Given the description of an element on the screen output the (x, y) to click on. 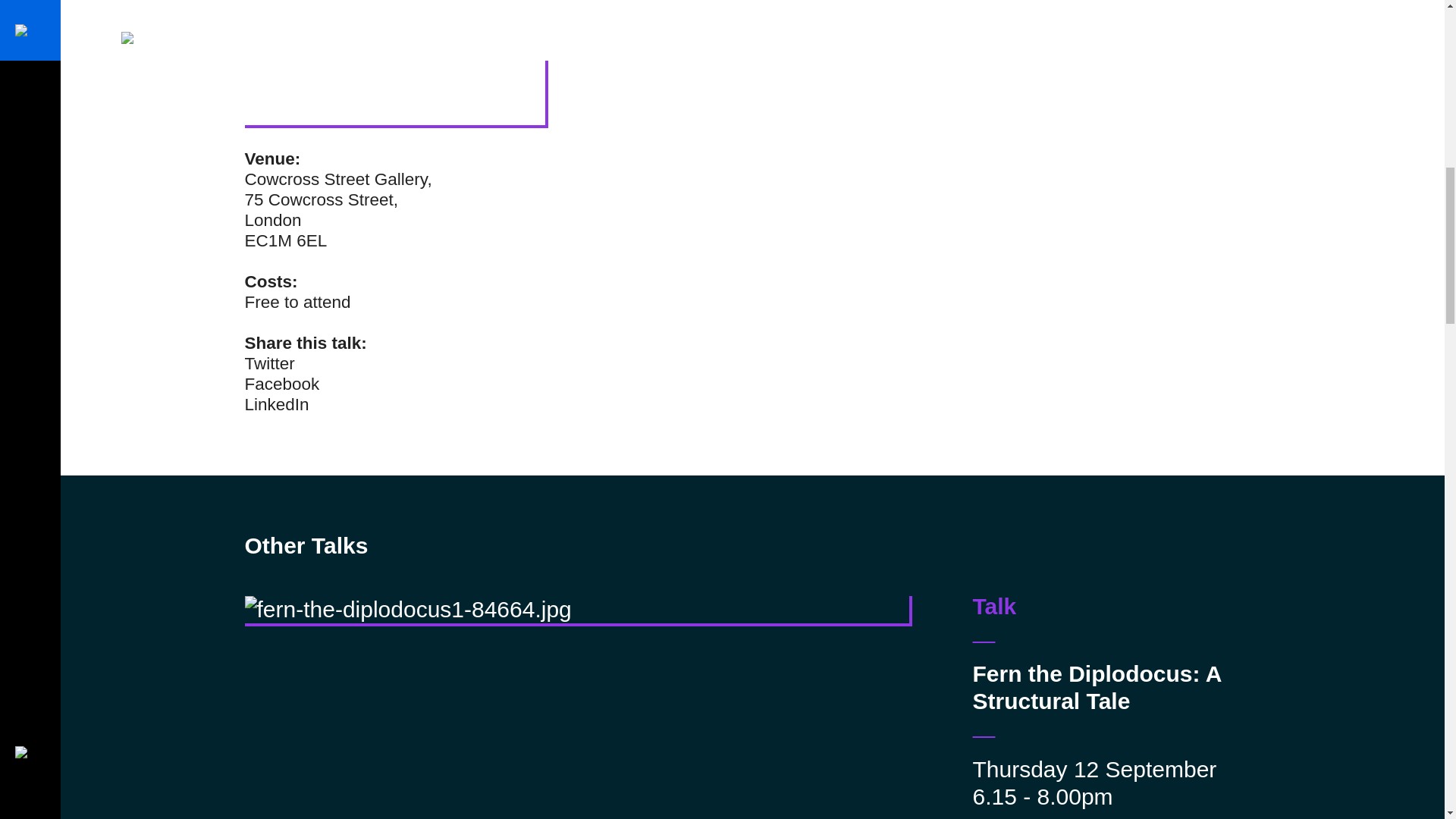
Facebook (281, 383)
Twitter (269, 363)
LinkedIn (276, 404)
